Given the description of an element on the screen output the (x, y) to click on. 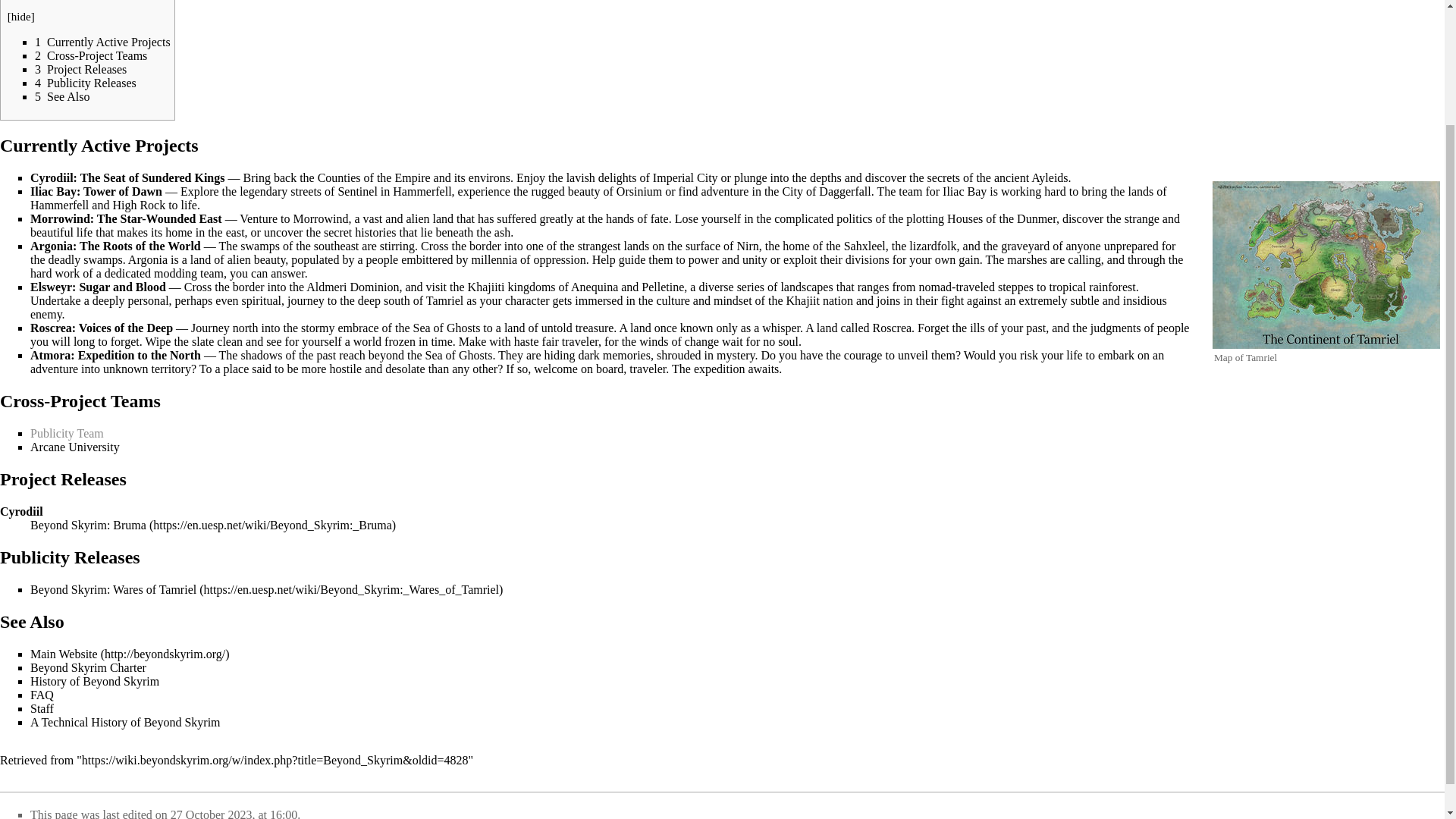
Beyond Skyrim Charter (88, 667)
Elsweyr:Sugar and Blood (97, 286)
Argonia:The Roots of the World (115, 245)
Iliac Bay: Tower of Dawn (95, 191)
3 Project Releases (80, 69)
FAQ (41, 694)
Roscrea: Voices of the Deep (101, 327)
Publicity Team (66, 432)
FAQ (41, 694)
Cyrodiil:The Seat of Sundered Kings (127, 177)
A Technical History of Beyond Skyrim (125, 721)
Argonia: The Roots of the World (115, 245)
Cyrodiil: The Seat of Sundered Kings (127, 177)
Beyond Skyrim: Bruma (213, 524)
Elsweyr: Sugar and Blood (97, 286)
